Given the description of an element on the screen output the (x, y) to click on. 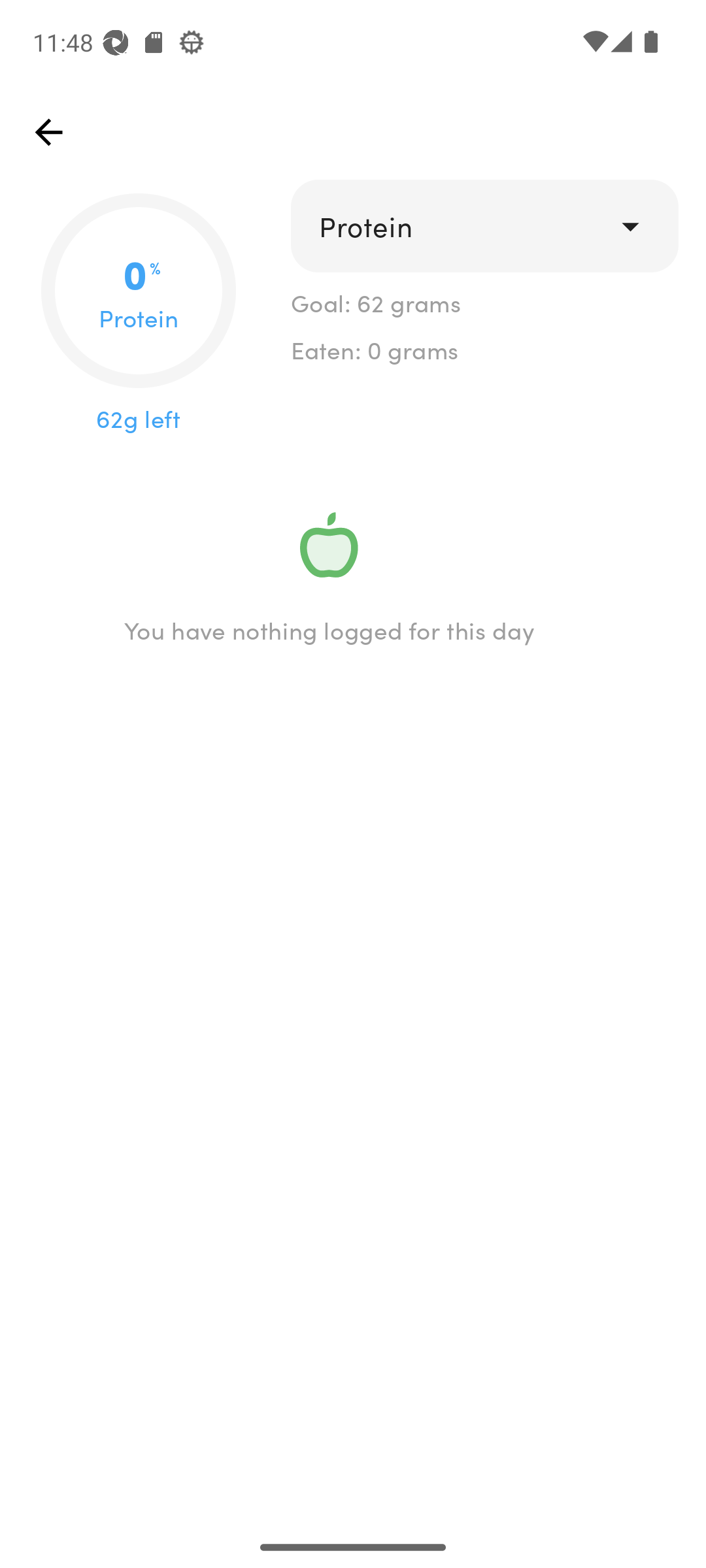
top_left_action (48, 132)
drop_down Protein (484, 226)
